Given the description of an element on the screen output the (x, y) to click on. 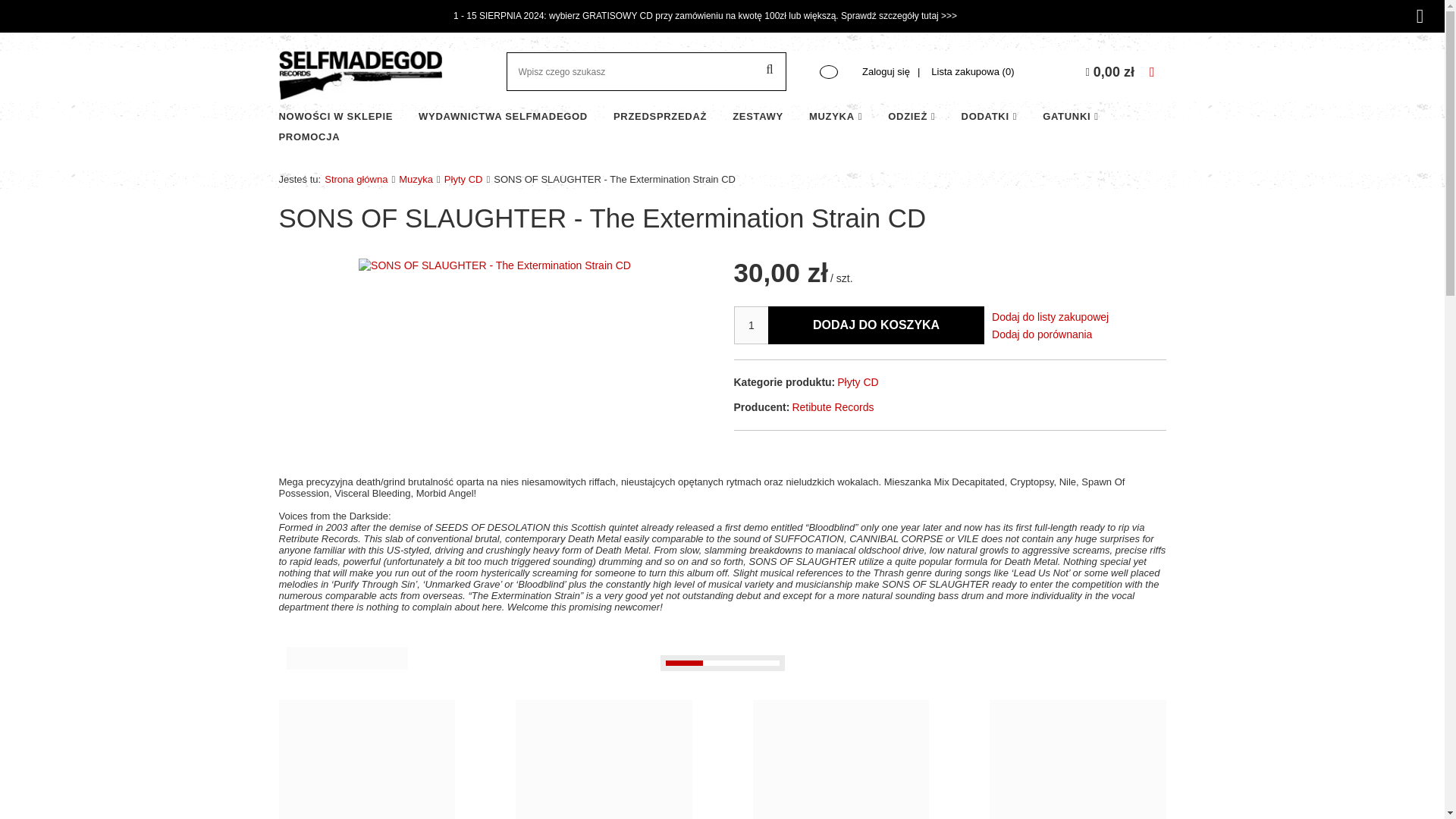
ZESTAWY (757, 117)
Dodaj do listy zakupowej (1046, 316)
GATUNKI (1070, 117)
Promocja (308, 137)
DODATKI (989, 117)
Lista zakupowa 0 (972, 72)
Muzyka (835, 117)
WYDAWNICTWA SELFMADEGOD (502, 117)
1 (750, 324)
Gatunki (1070, 117)
